Given the description of an element on the screen output the (x, y) to click on. 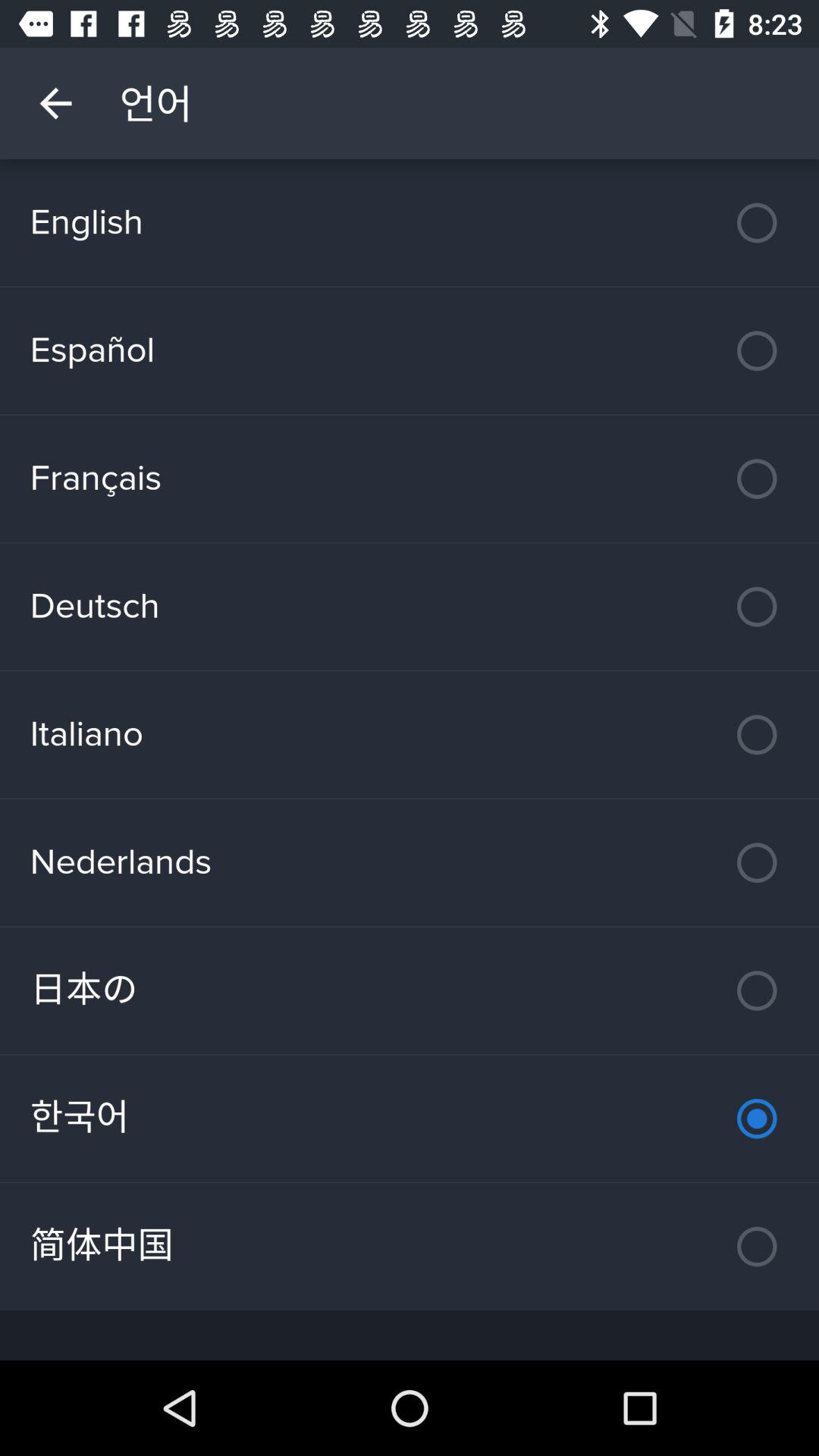
launch item below the deutsch icon (409, 734)
